Given the description of an element on the screen output the (x, y) to click on. 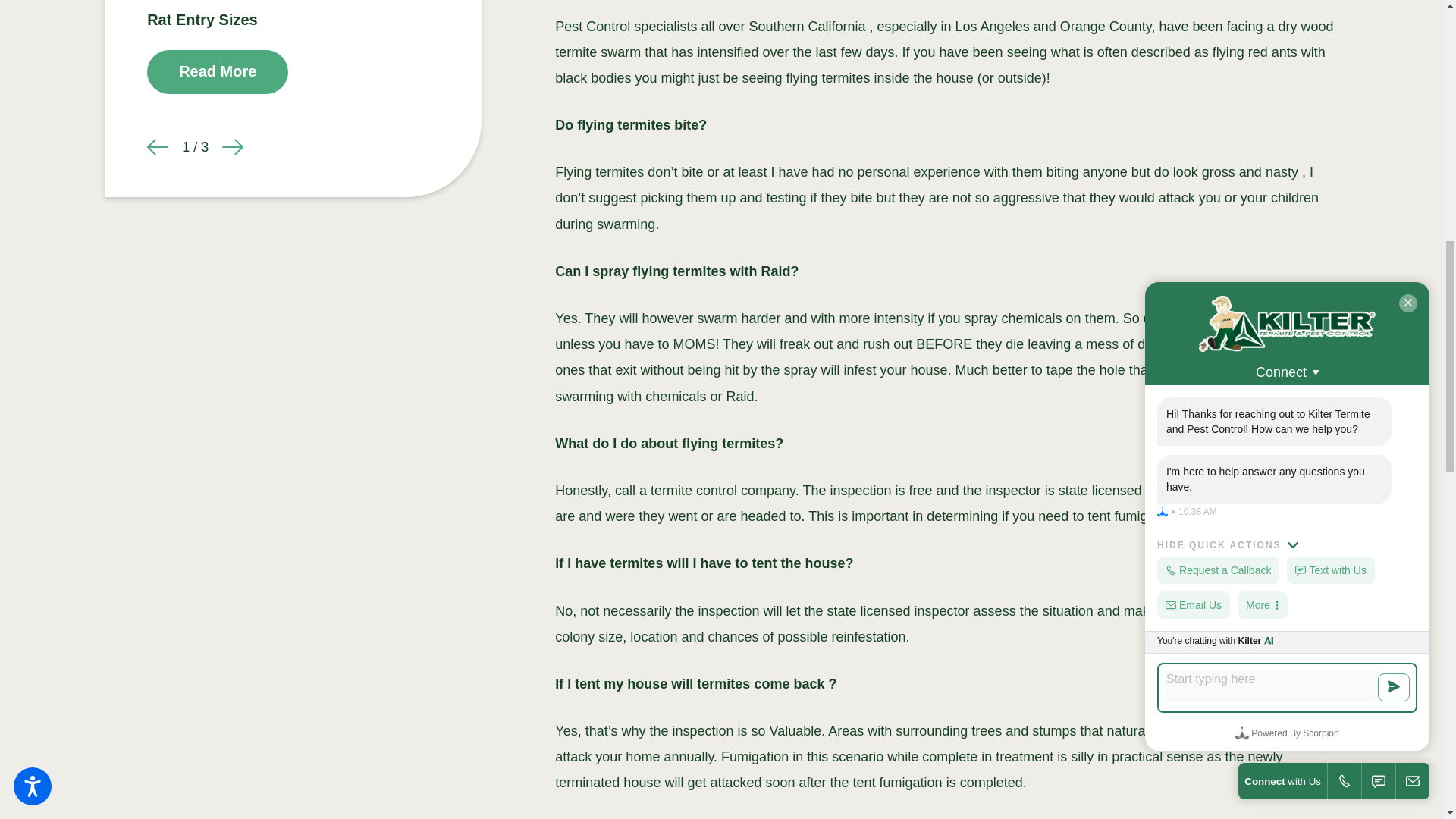
View next item (232, 147)
View previous item (157, 147)
